Given the description of an element on the screen output the (x, y) to click on. 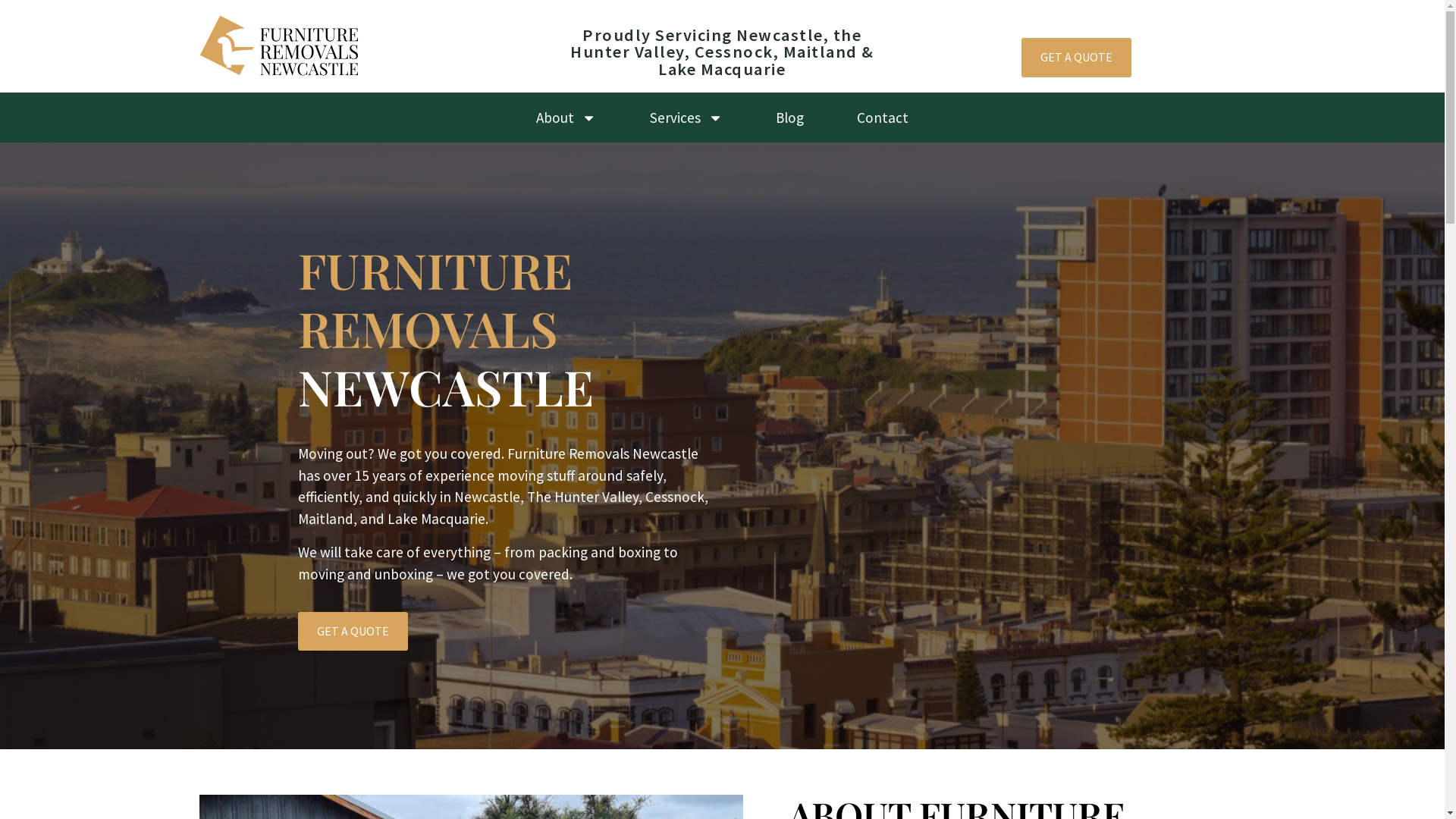
About Element type: text (565, 117)
GET A QUOTE Element type: text (352, 630)
Blog Element type: text (789, 117)
GET A QUOTE Element type: text (1076, 57)
Contact Element type: text (882, 117)
Services Element type: text (685, 117)
